Given the description of an element on the screen output the (x, y) to click on. 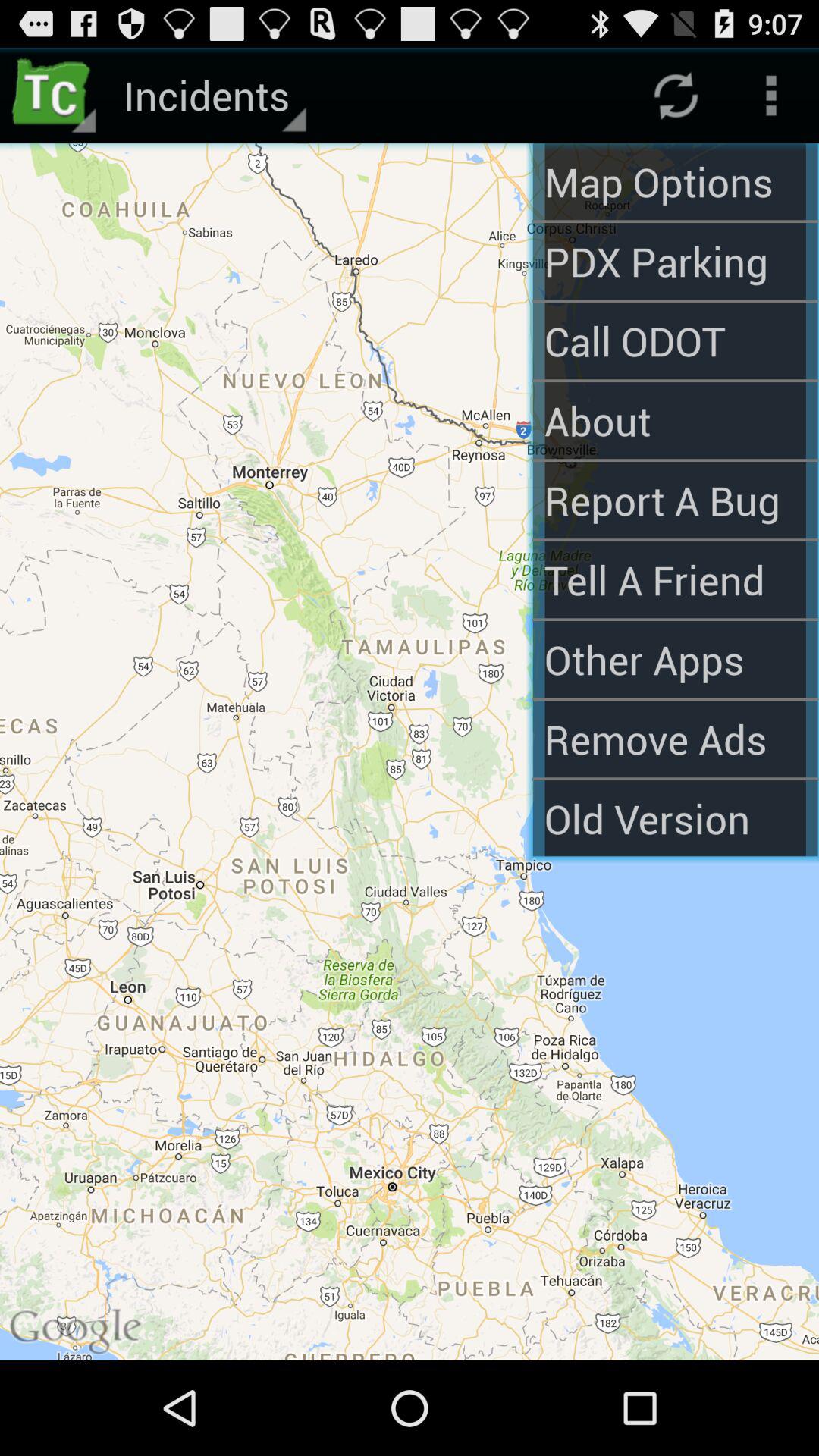
scroll until the other apps (675, 659)
